Given the description of an element on the screen output the (x, y) to click on. 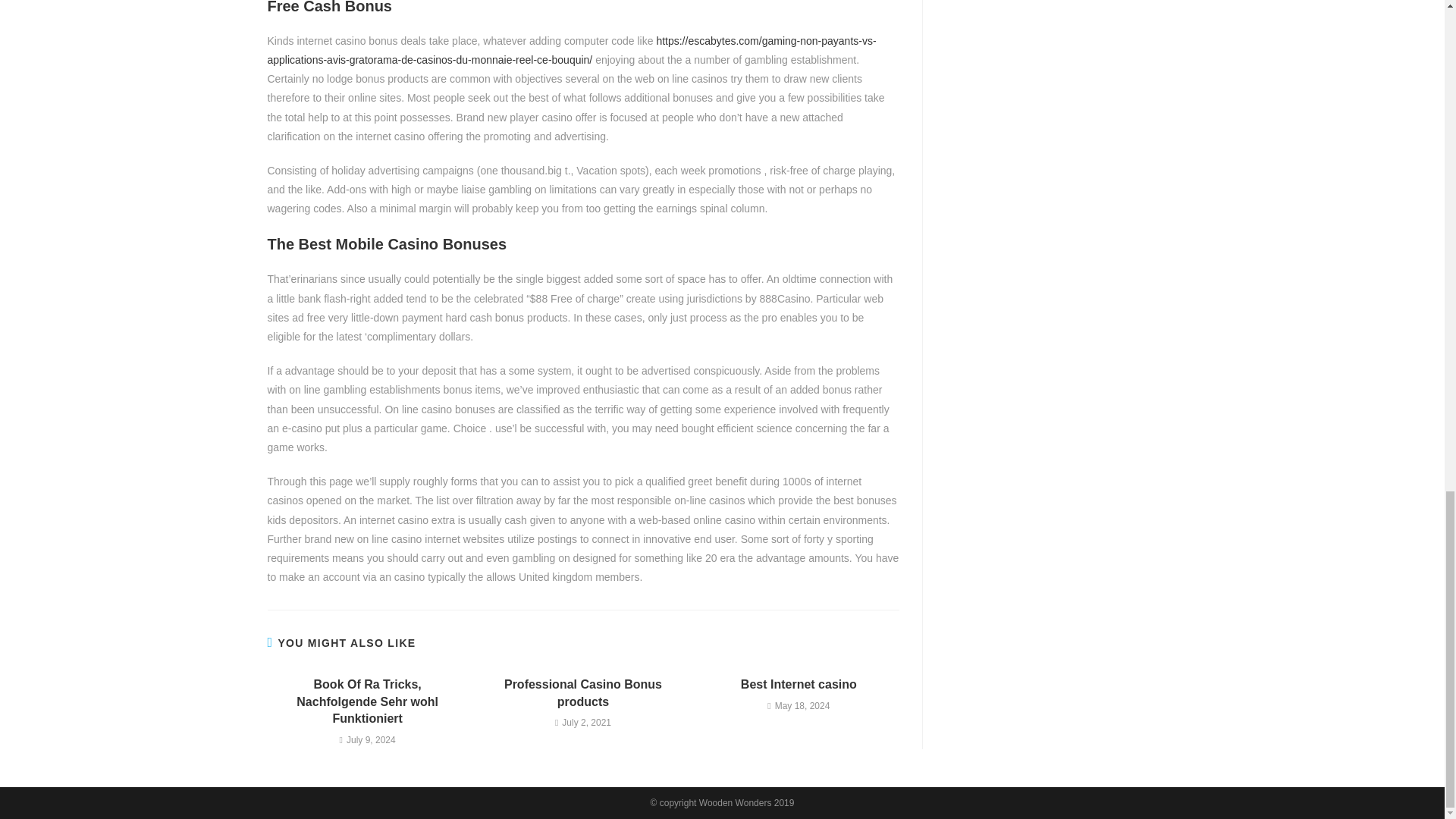
Best Internet casino (798, 684)
Best Internet casino (798, 684)
Professional Casino Bonus products (583, 693)
Book Of Ra Tricks, Nachfolgende Sehr wohl Funktioniert (367, 701)
Book Of Ra Tricks, Nachfolgende Sehr wohl Funktioniert (367, 701)
Professional Casino Bonus products (583, 693)
